Given the description of an element on the screen output the (x, y) to click on. 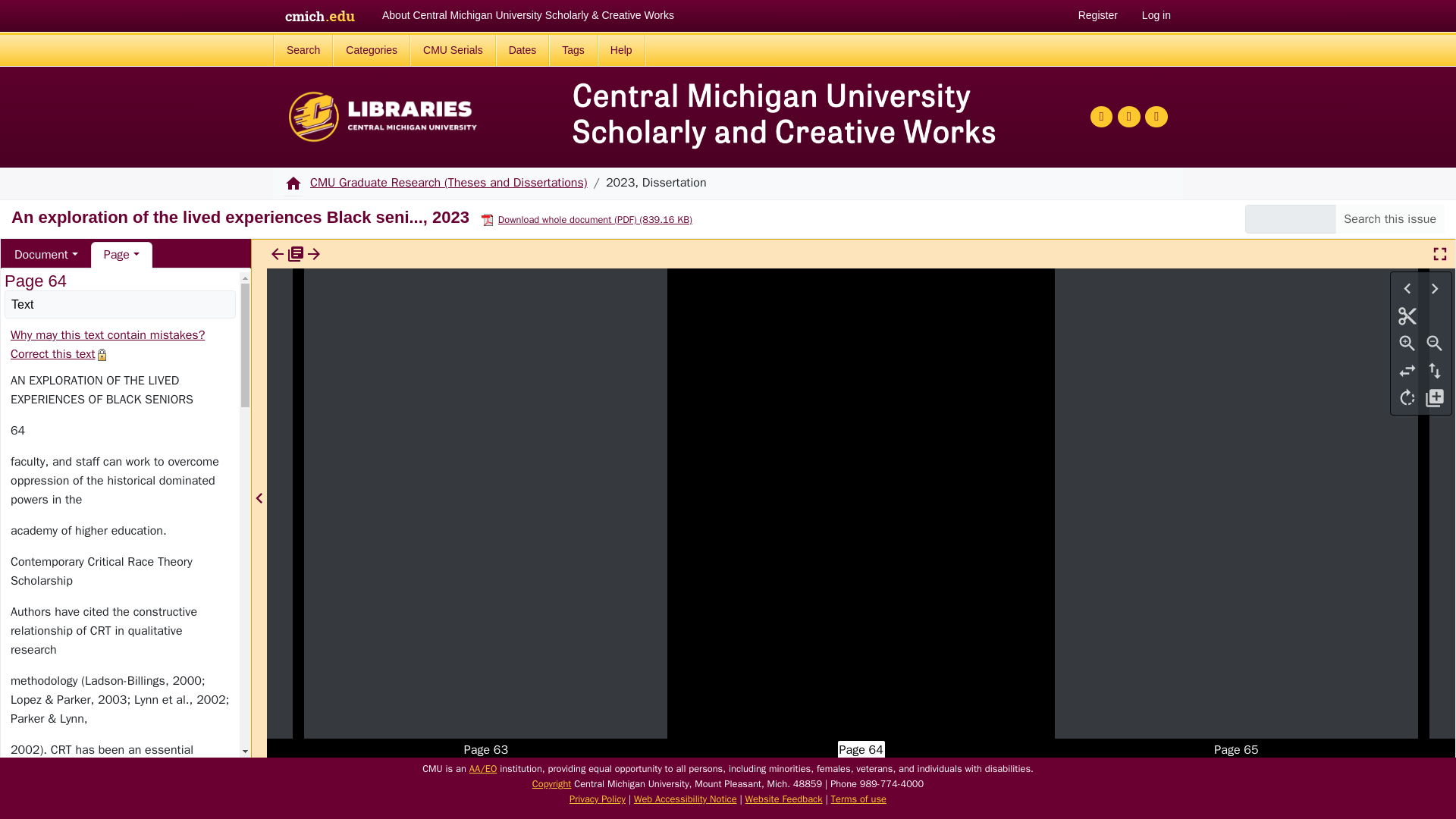
Zoom in (1407, 343)
Fit to width (1407, 370)
Page (116, 254)
CMU Serials (453, 50)
Maximize (1439, 253)
Rotate image (1407, 397)
Search this issue (1389, 218)
Browse all documents of this publication (295, 253)
Locked (101, 354)
Dates (523, 50)
Categories (371, 50)
Start clip (1407, 316)
Next page (1434, 288)
Add to private list (1434, 397)
Next page (1434, 288)
